Given the description of an element on the screen output the (x, y) to click on. 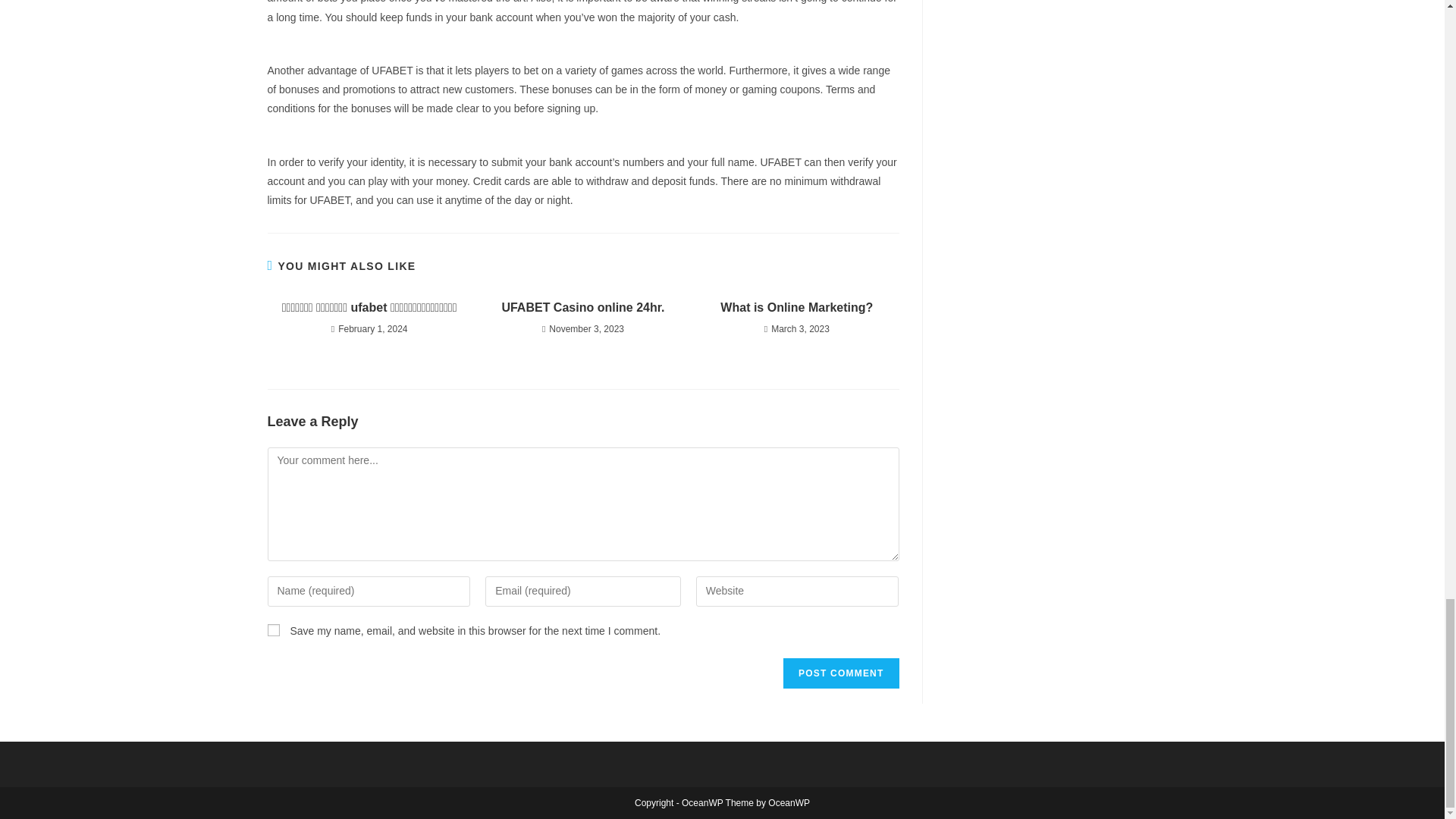
yes (272, 630)
What is Online Marketing? (796, 307)
Post Comment (840, 673)
Post Comment (840, 673)
UFABET Casino online 24hr. (582, 307)
